Given the description of an element on the screen output the (x, y) to click on. 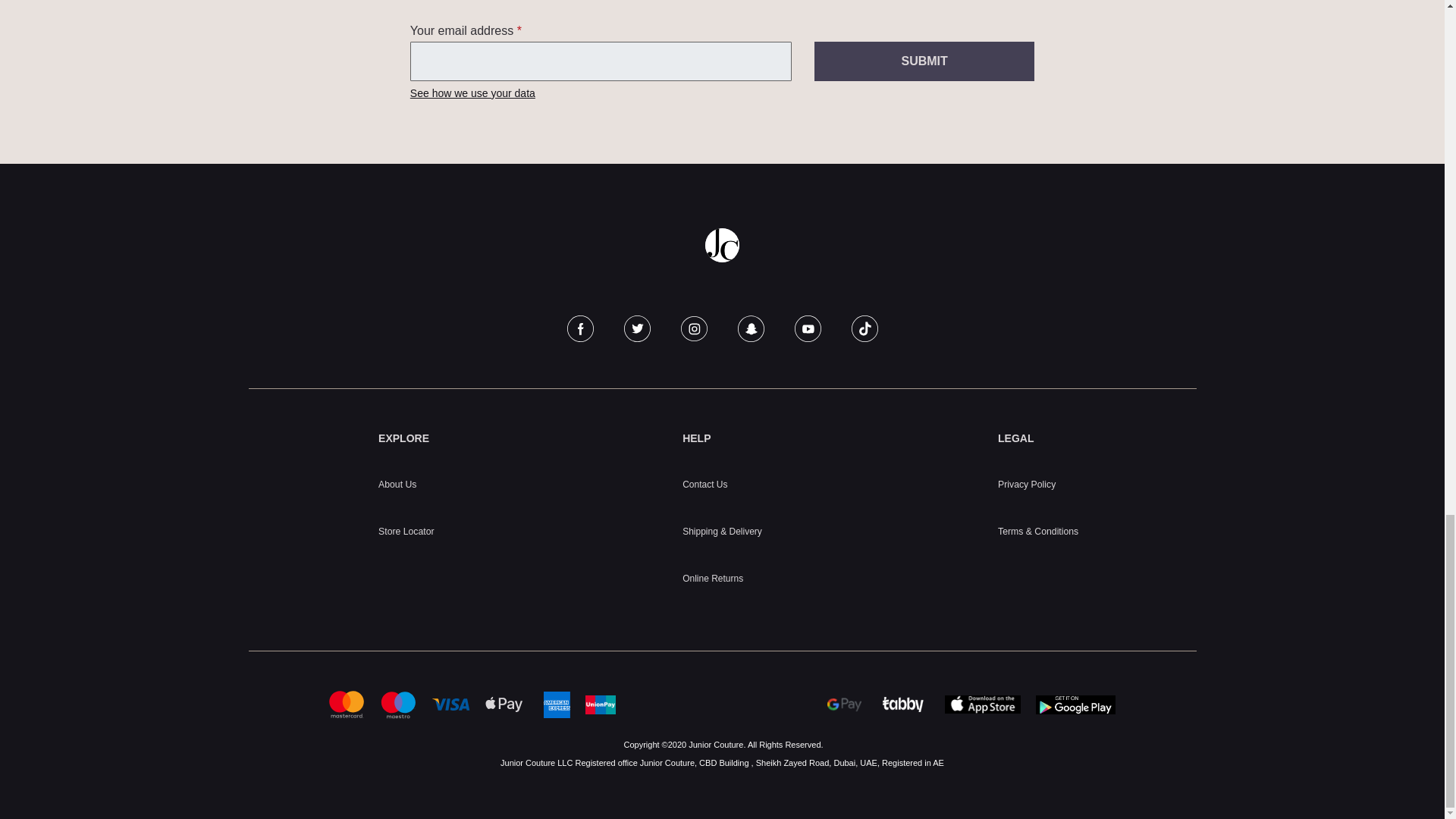
Go to Contact Us (704, 484)
Go to Store Locator (405, 531)
Juniour Couture Home (721, 245)
Go to About Us (397, 484)
